Given the description of an element on the screen output the (x, y) to click on. 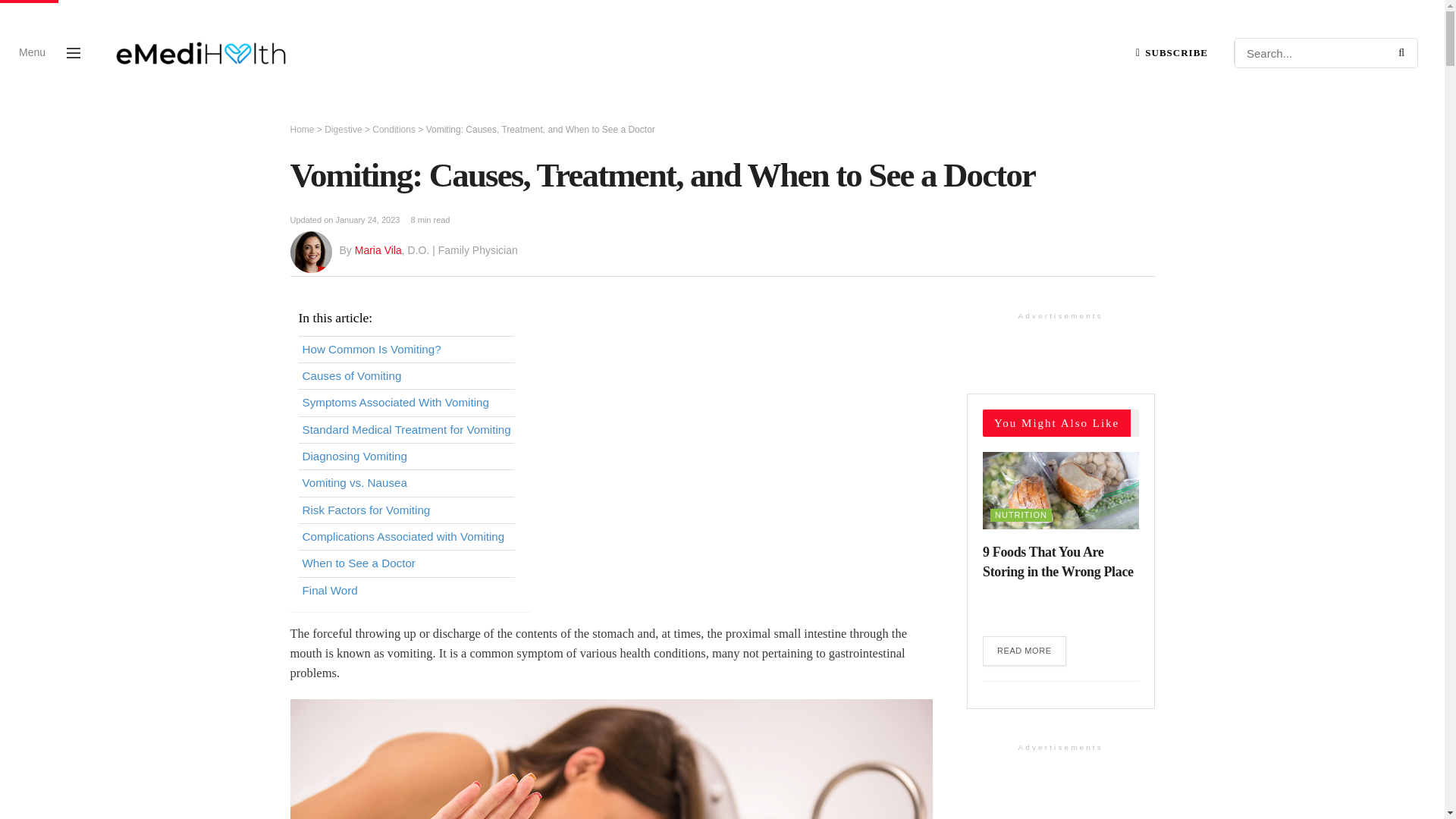
Symptoms Associated With Vomiting (394, 402)
When to See a Doctor (357, 563)
Causes of Vomiting (351, 375)
Go to the Conditions category archives. (393, 129)
How Common Is Vomiting? (371, 349)
Risk Factors for Vomiting (365, 510)
SUBSCRIBE (1172, 52)
Final Word (328, 590)
Maria Vila (378, 250)
Complications Associated with Vomiting (402, 536)
Causes of Vomiting (351, 375)
Standard Medical Treatment for Vomiting (406, 429)
Go to the Digestive category archives. (342, 129)
Diagnosing Vomiting (353, 456)
Standard Medical Treatment for Vomiting (406, 429)
